Given the description of an element on the screen output the (x, y) to click on. 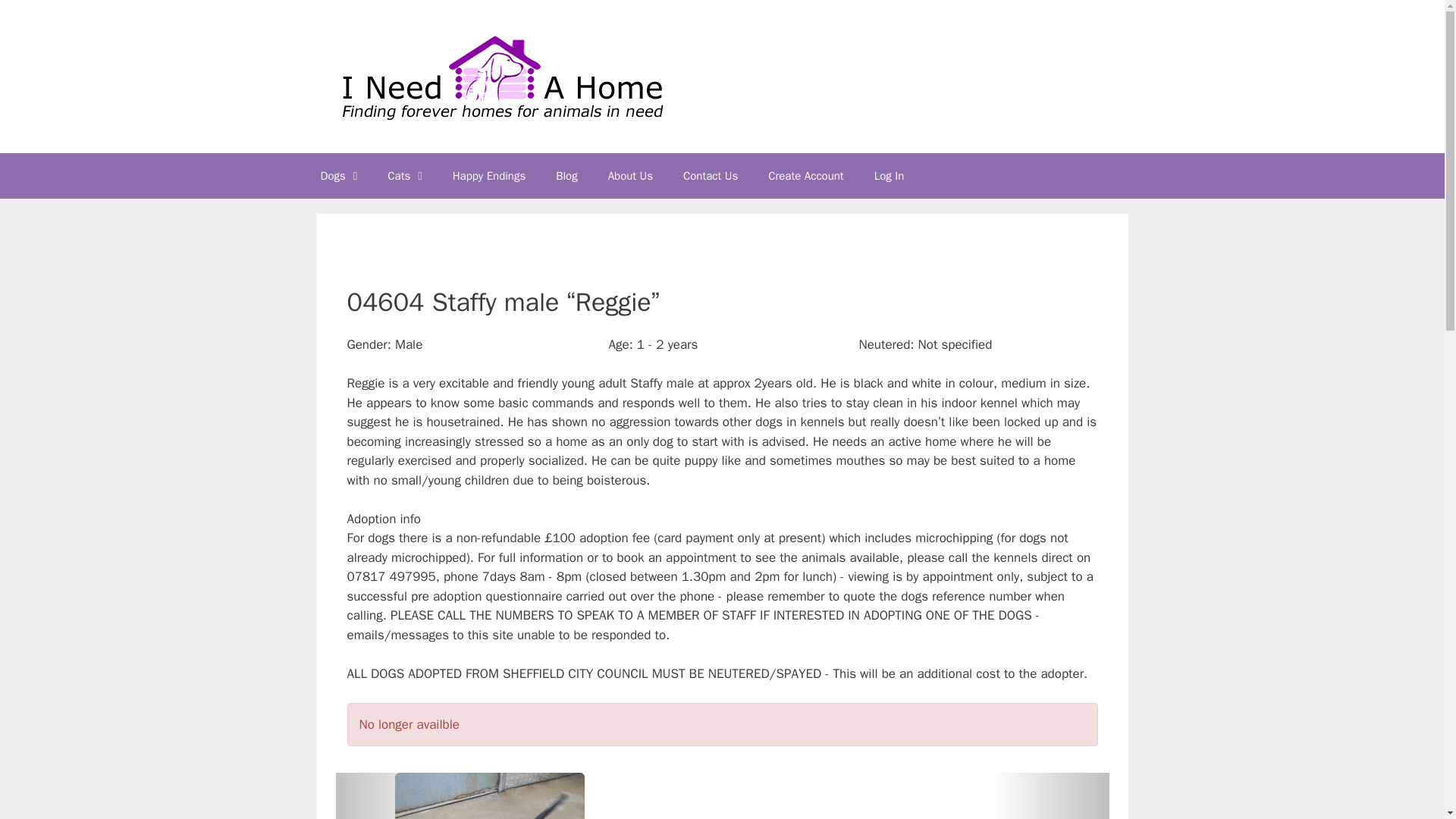
Previous (392, 796)
Log In (889, 176)
I Need a Home (500, 75)
Create Account (805, 176)
Blog (566, 176)
Cats (404, 176)
Happy Endings (489, 176)
Previous (1050, 796)
Contact Us (710, 176)
I Need a Home (500, 76)
